Given the description of an element on the screen output the (x, y) to click on. 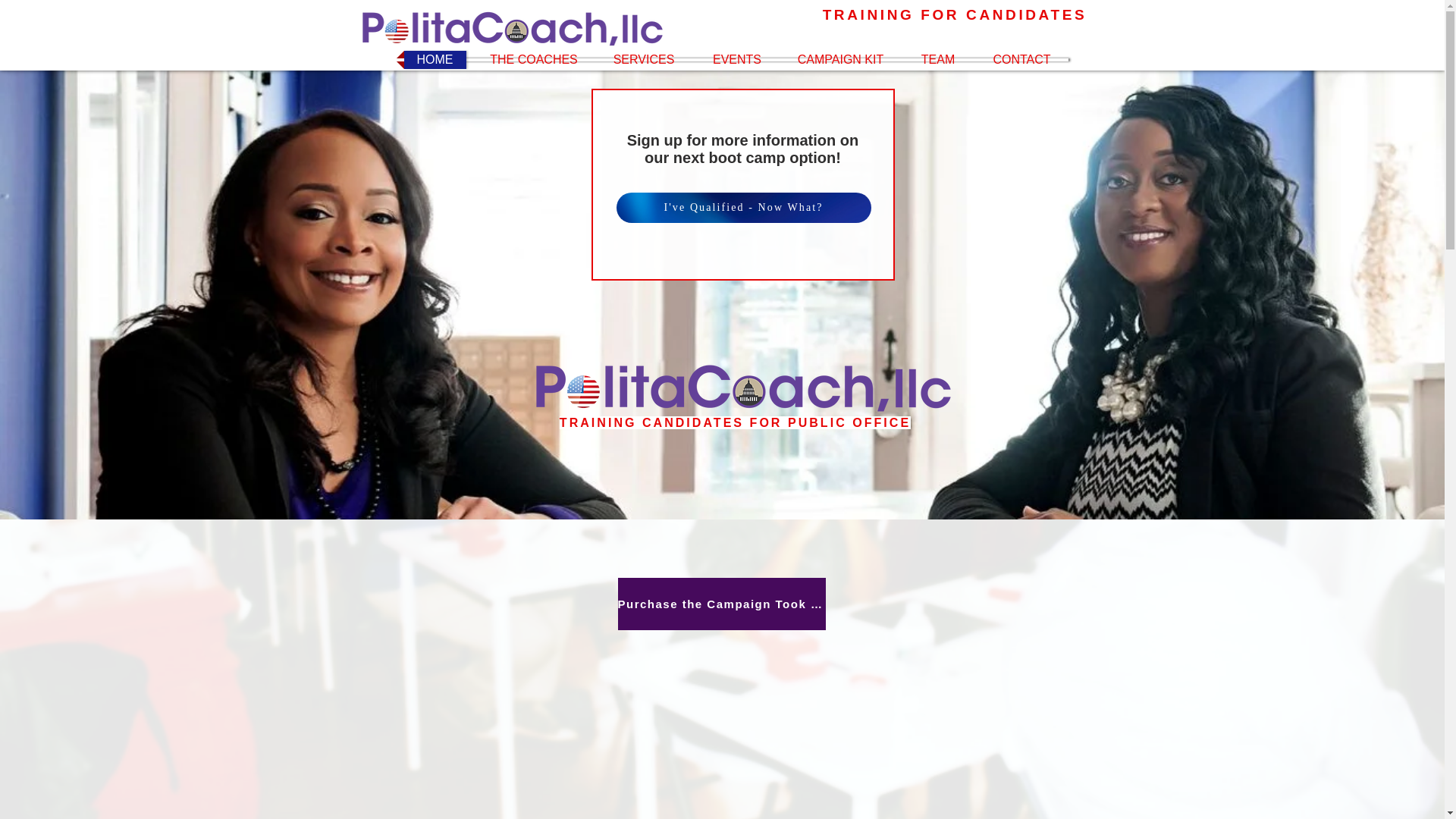
THE COACHES (533, 59)
I've Qualified - Now What? (742, 207)
CONTACT (1021, 59)
TEAM (938, 59)
HOME (434, 59)
CAMPAIGN KIT (840, 59)
Purchase the Campaign Took Kit (721, 603)
EVENTS (736, 59)
SERVICES (644, 59)
